Given the description of an element on the screen output the (x, y) to click on. 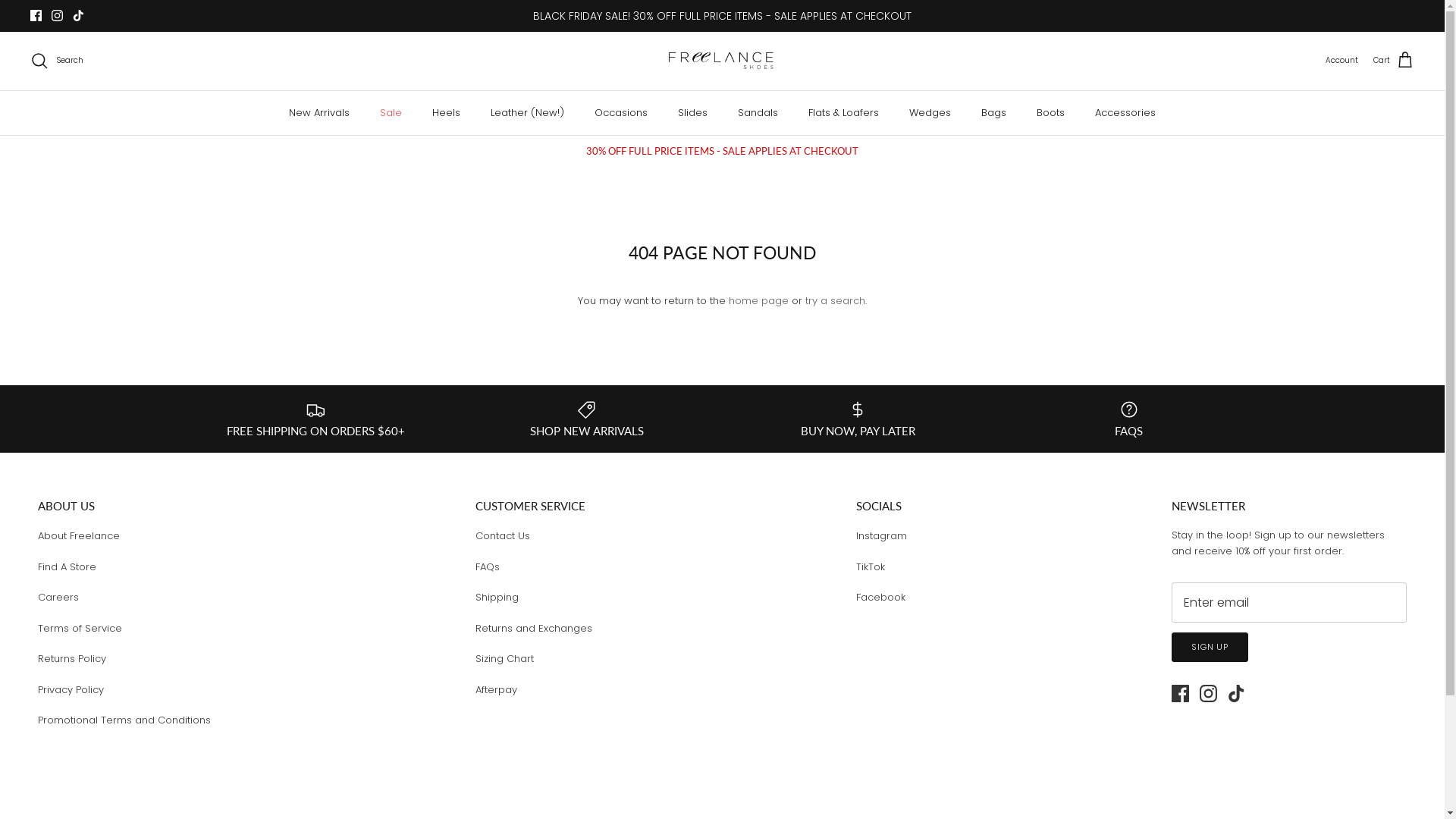
Cart Element type: text (1393, 60)
Find A Store Element type: text (66, 566)
Contact Us Element type: text (502, 535)
FREE SHIPPING ON ORDERS $60+ Element type: text (315, 419)
Slides Element type: text (692, 112)
Accessories Element type: text (1125, 112)
Sale Element type: text (390, 112)
Instagram Element type: text (1208, 693)
Flats & Loafers Element type: text (843, 112)
30% OFF FULL PRICE ITEMS - SALE APPLIES AT CHECKOUT Element type: text (721, 150)
Instagram Element type: text (56, 15)
Returns Policy Element type: text (71, 658)
Freelance Shoes Element type: hover (722, 61)
SIGN UP Element type: text (1209, 647)
try a search Element type: text (835, 300)
TikTok Element type: text (870, 566)
Occasions Element type: text (620, 112)
Shipping Element type: text (496, 596)
Facebook Element type: text (35, 15)
SHOP NEW ARRIVALS Element type: text (586, 419)
Search Element type: text (56, 60)
Facebook Element type: text (1180, 693)
Terms of Service Element type: text (79, 628)
Sizing Chart Element type: text (504, 658)
Careers Element type: text (57, 596)
Privacy Policy Element type: text (70, 689)
Heels Element type: text (445, 112)
About Freelance Element type: text (78, 535)
Instagram Element type: text (881, 535)
New Arrivals Element type: text (319, 112)
Bags Element type: text (993, 112)
Account Element type: text (1341, 60)
Leather (New!) Element type: text (526, 112)
Afterpay Element type: text (496, 689)
Wedges Element type: text (929, 112)
Returns and Exchanges Element type: text (533, 628)
Boots Element type: text (1050, 112)
Facebook Element type: text (880, 596)
Sandals Element type: text (757, 112)
FAQS Element type: text (1128, 419)
FAQs Element type: text (487, 566)
BUY NOW, PAY LATER Element type: text (858, 419)
home page Element type: text (758, 300)
Promotional Terms and Conditions Element type: text (123, 719)
